Given the description of an element on the screen output the (x, y) to click on. 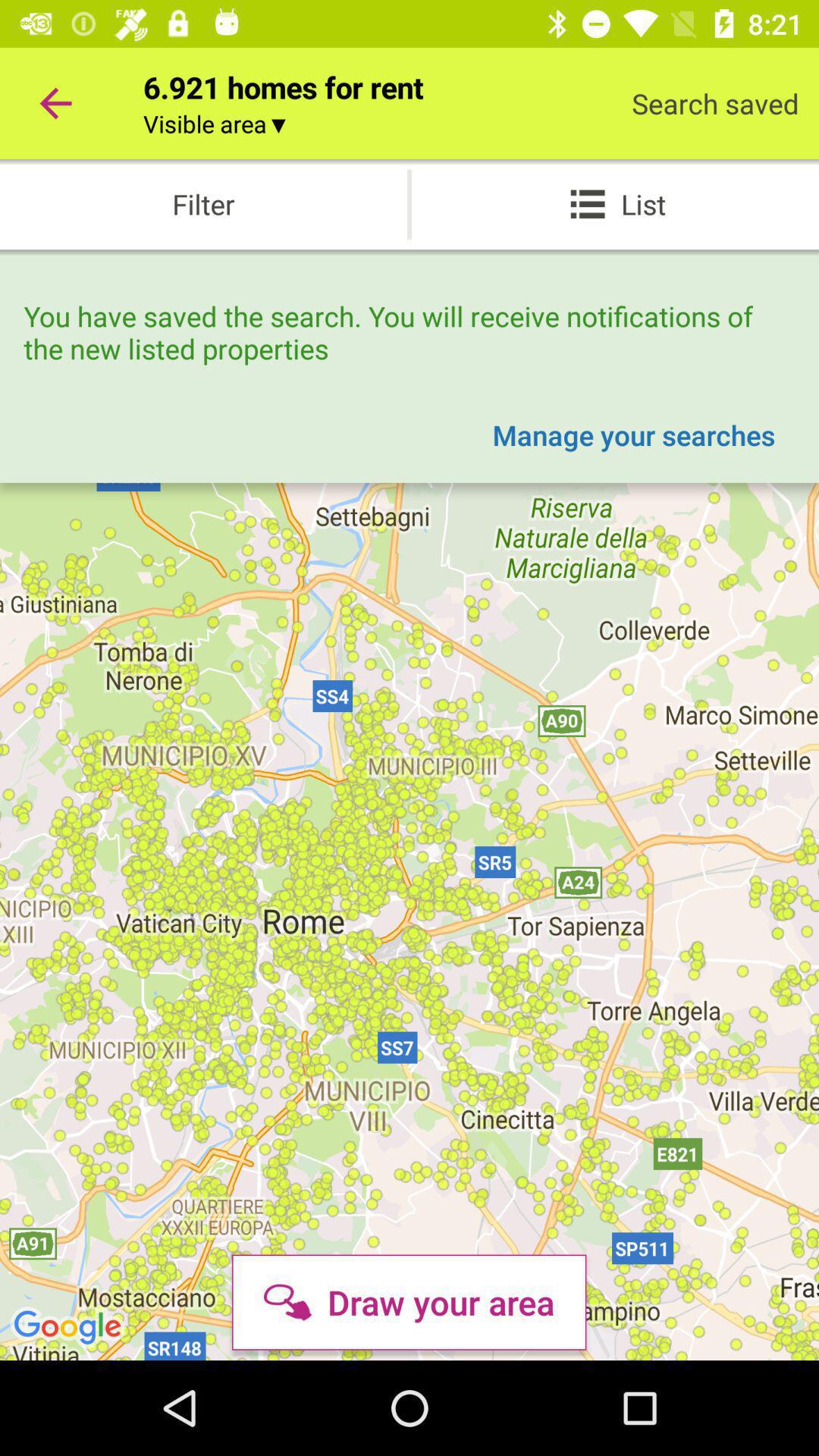
click the item below you have saved icon (633, 434)
